Given the description of an element on the screen output the (x, y) to click on. 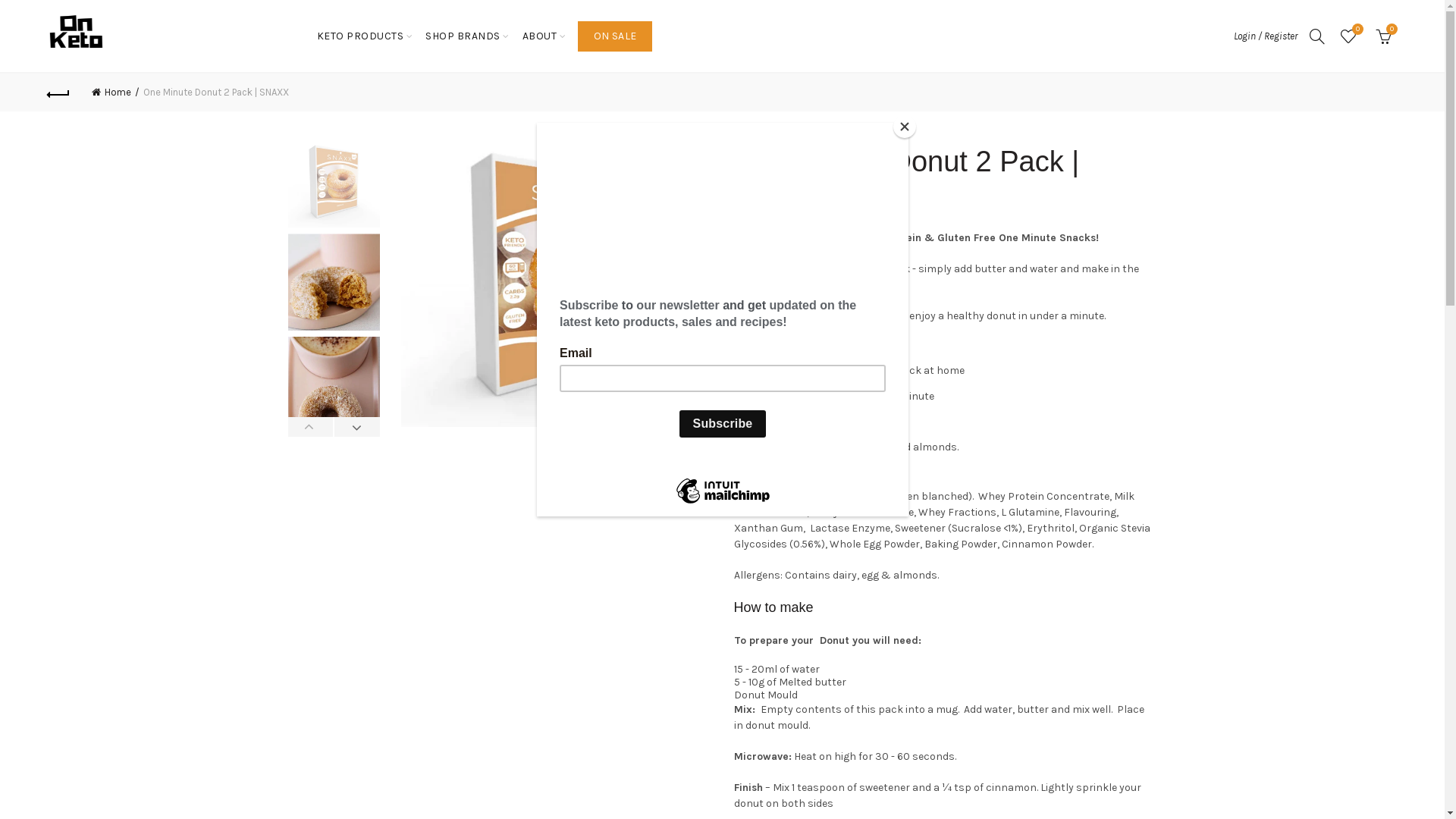
One Minute Donut 2 Pack | SNAXX Element type: hover (554, 283)
KETO PRODUCTS Element type: text (360, 36)
0 Element type: text (1383, 35)
NEXT Element type: text (356, 426)
PREVIOUS Element type: text (311, 426)
Home Element type: text (115, 91)
Click to enlarge Element type: text (684, 475)
ON SALE Element type: text (614, 36)
Back Element type: text (59, 92)
SHOP BRANDS Element type: text (462, 36)
Wishlist
0 Element type: text (1347, 35)
ABOUT Element type: text (539, 36)
Login / Register Element type: text (1265, 34)
